Given the description of an element on the screen output the (x, y) to click on. 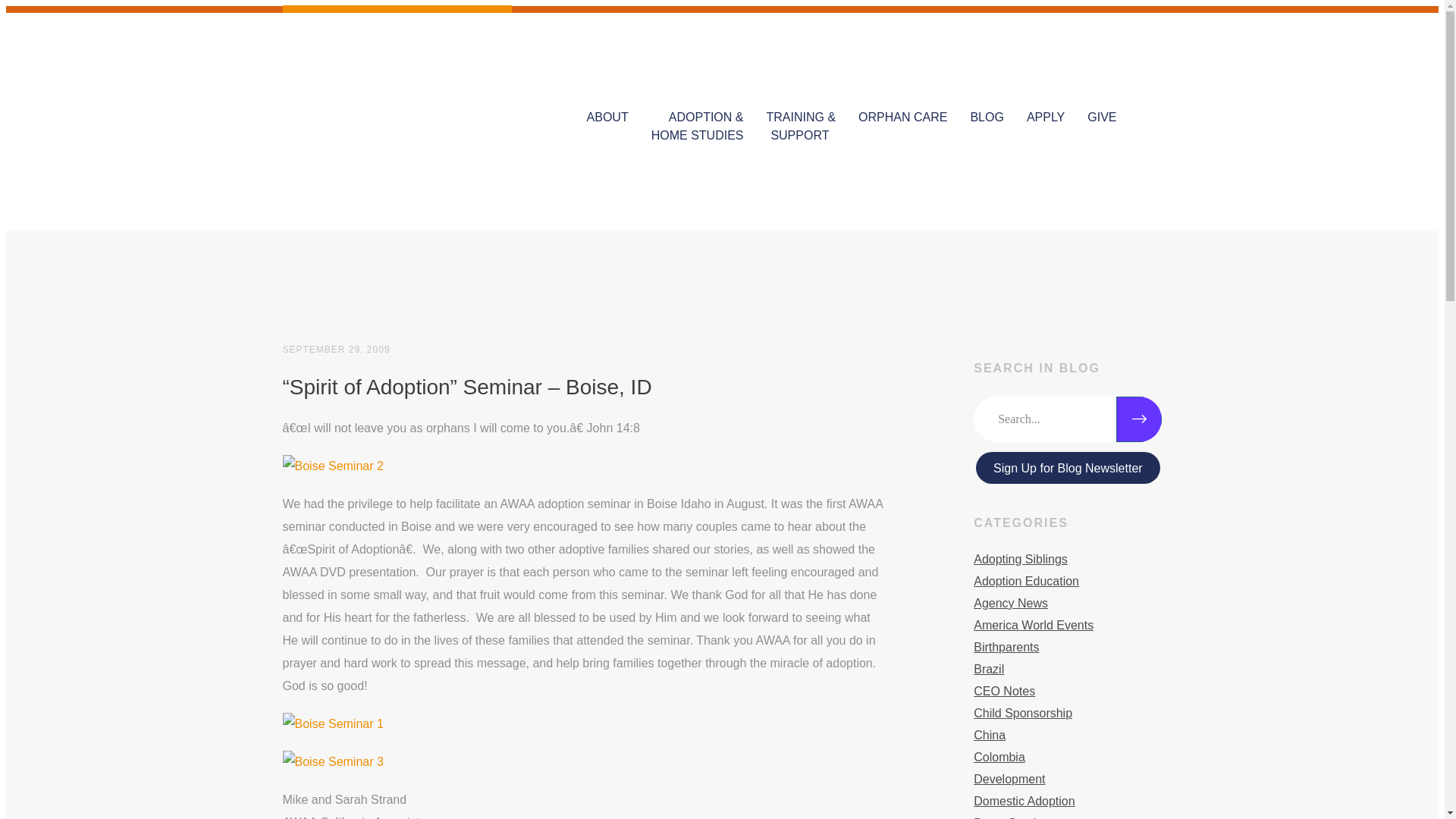
ABOUT (607, 109)
Type and press Enter to search. (1067, 419)
Search... (1067, 419)
Search... (1067, 419)
